Given the description of an element on the screen output the (x, y) to click on. 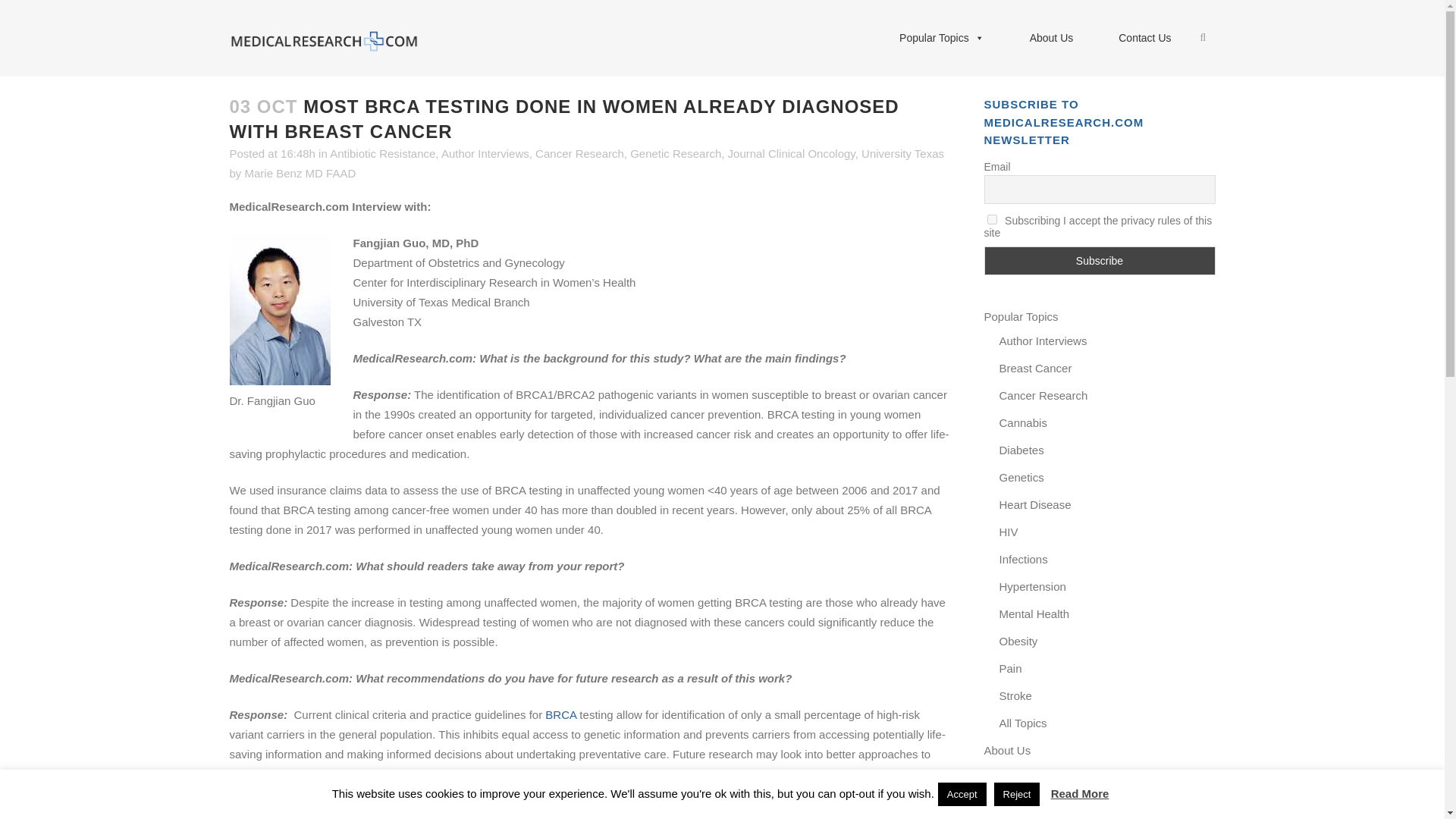
Contact Us (1144, 37)
on (992, 219)
Popular Topics (941, 37)
Subscribe (1099, 260)
About Us (1051, 37)
